Given the description of an element on the screen output the (x, y) to click on. 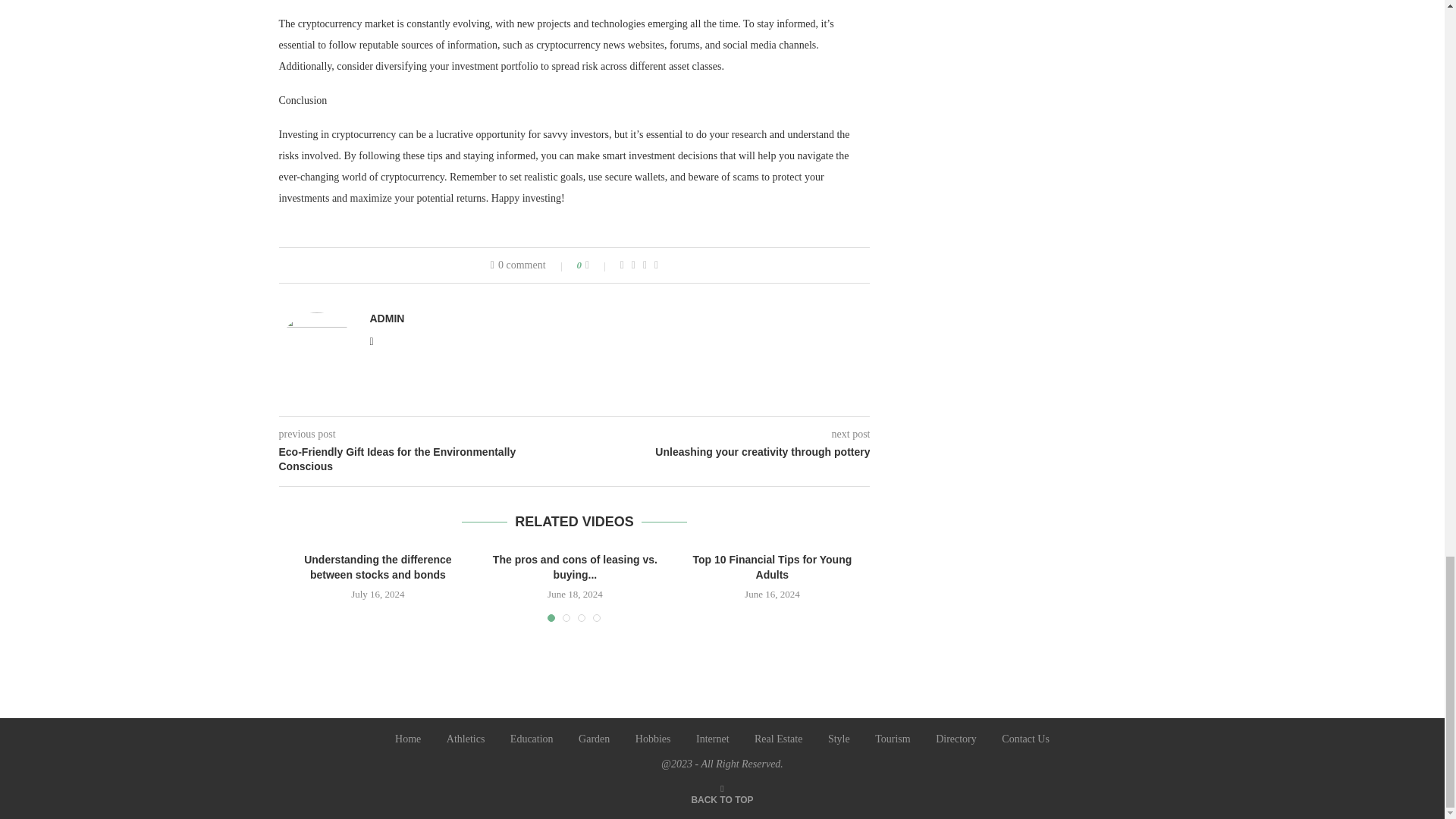
Author admin (386, 318)
Like (597, 265)
